Given the description of an element on the screen output the (x, y) to click on. 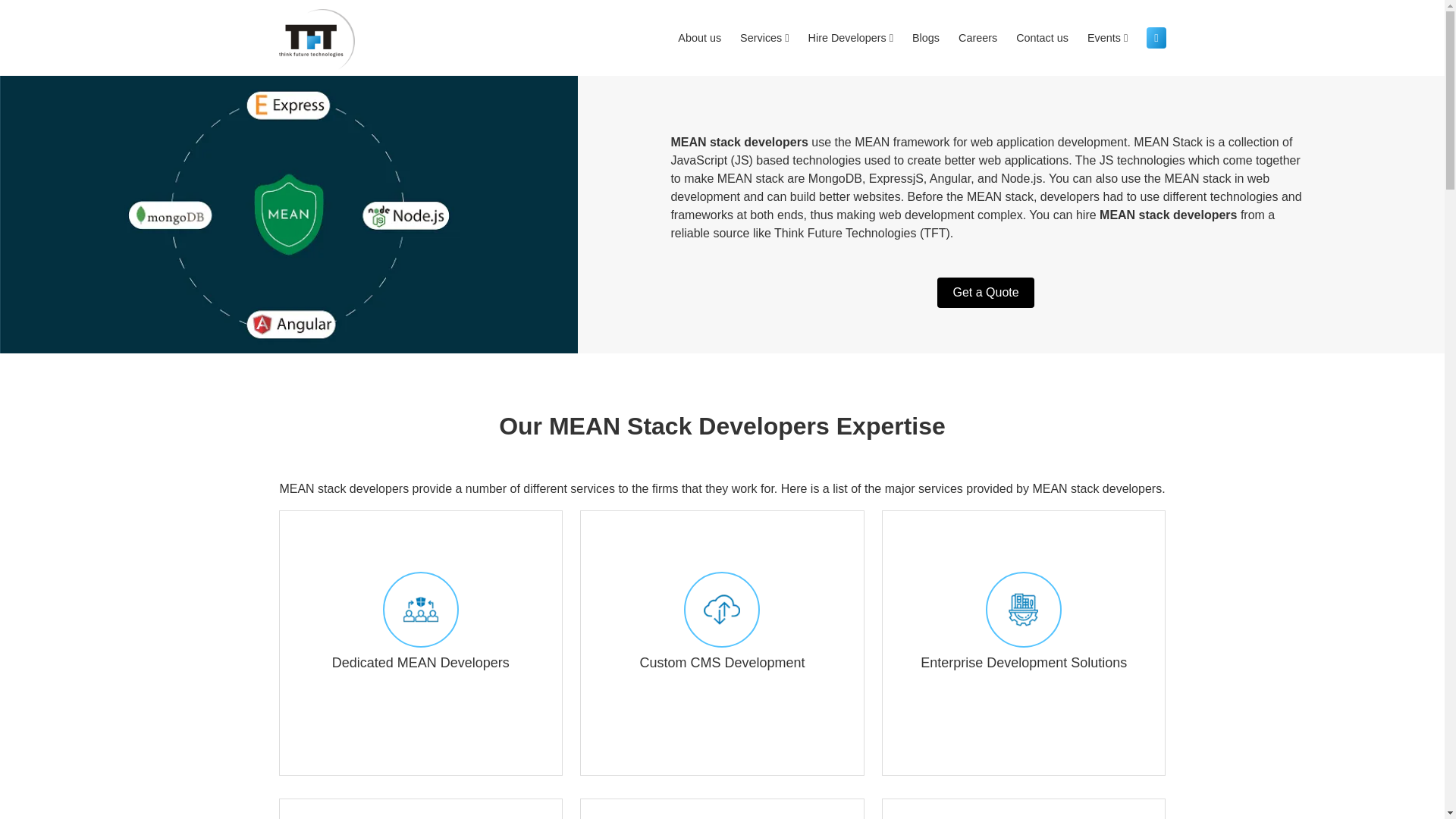
Think Future Technologies (317, 39)
About us (699, 37)
